Given the description of an element on the screen output the (x, y) to click on. 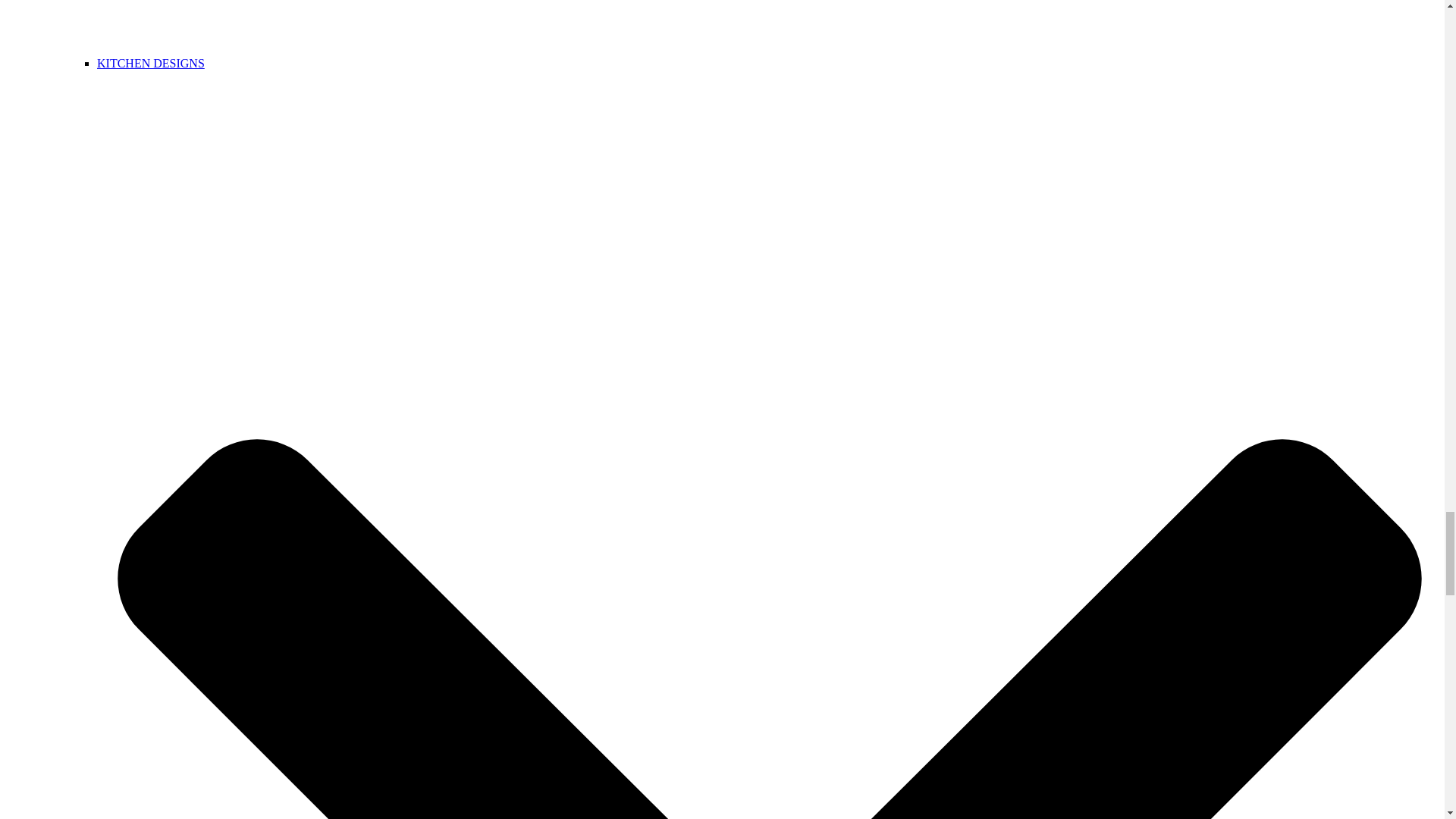
KITCHEN DESIGNS (151, 62)
